Given the description of an element on the screen output the (x, y) to click on. 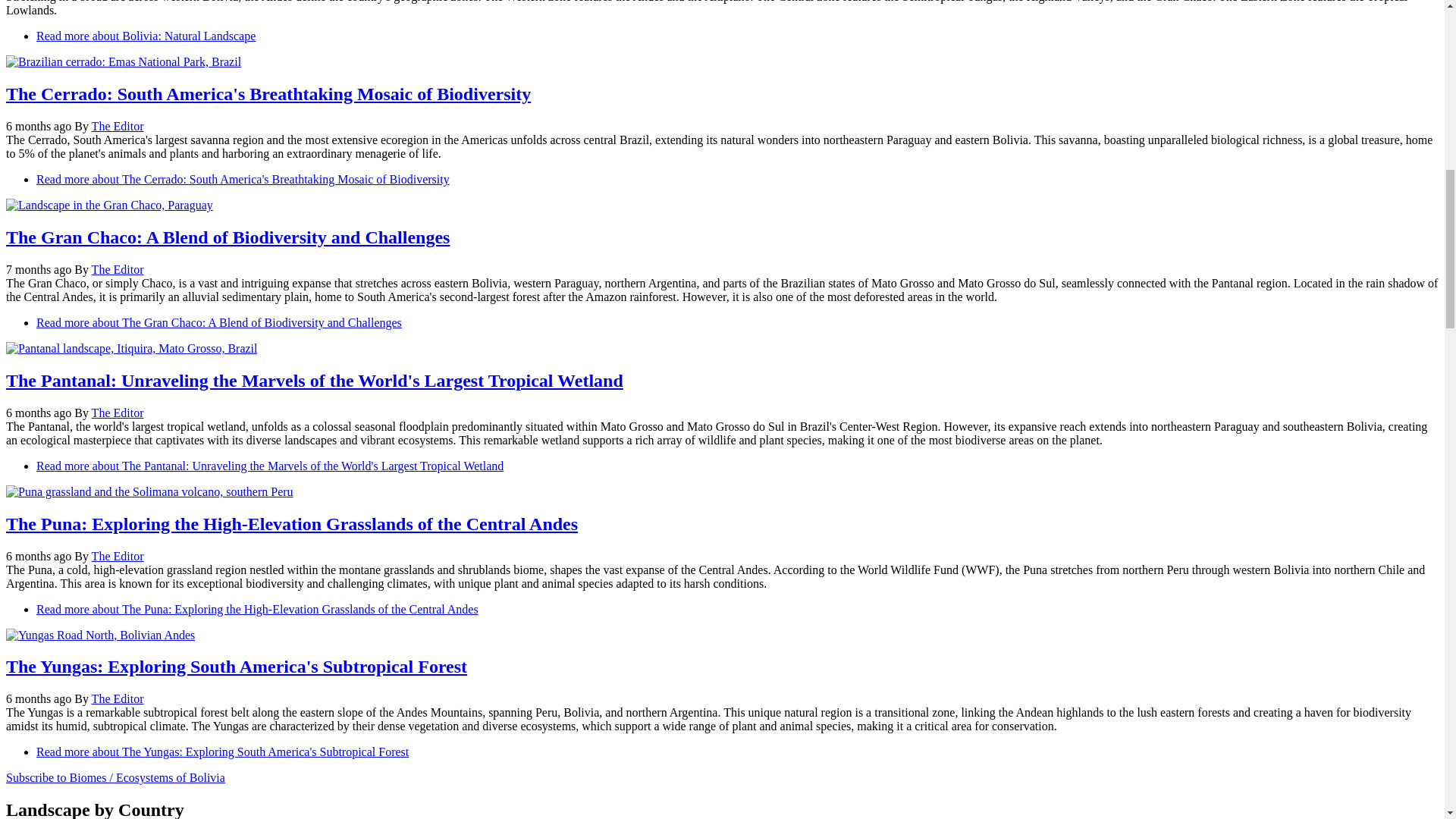
Read more about Bolivia: Natural Landscape (146, 35)
